Given the description of an element on the screen output the (x, y) to click on. 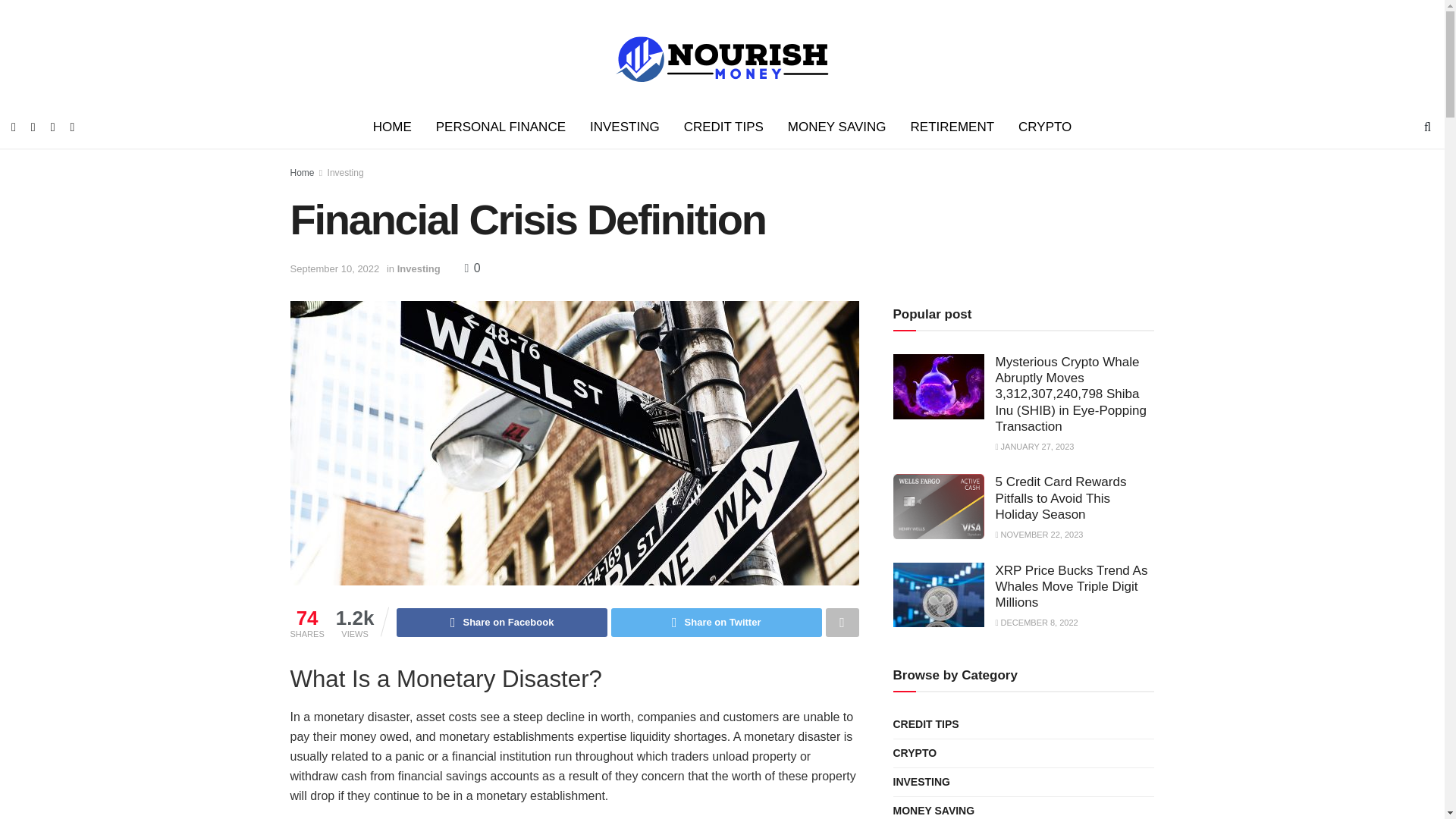
0 (472, 267)
CREDIT TIPS (723, 127)
HOME (392, 127)
Investing (419, 268)
MONEY SAVING (837, 127)
RETIREMENT (952, 127)
INVESTING (624, 127)
CRYPTO (1044, 127)
September 10, 2022 (333, 268)
Investing (345, 172)
Home (301, 172)
Share on Twitter (716, 622)
Share on Facebook (501, 622)
PERSONAL FINANCE (500, 127)
